Given the description of an element on the screen output the (x, y) to click on. 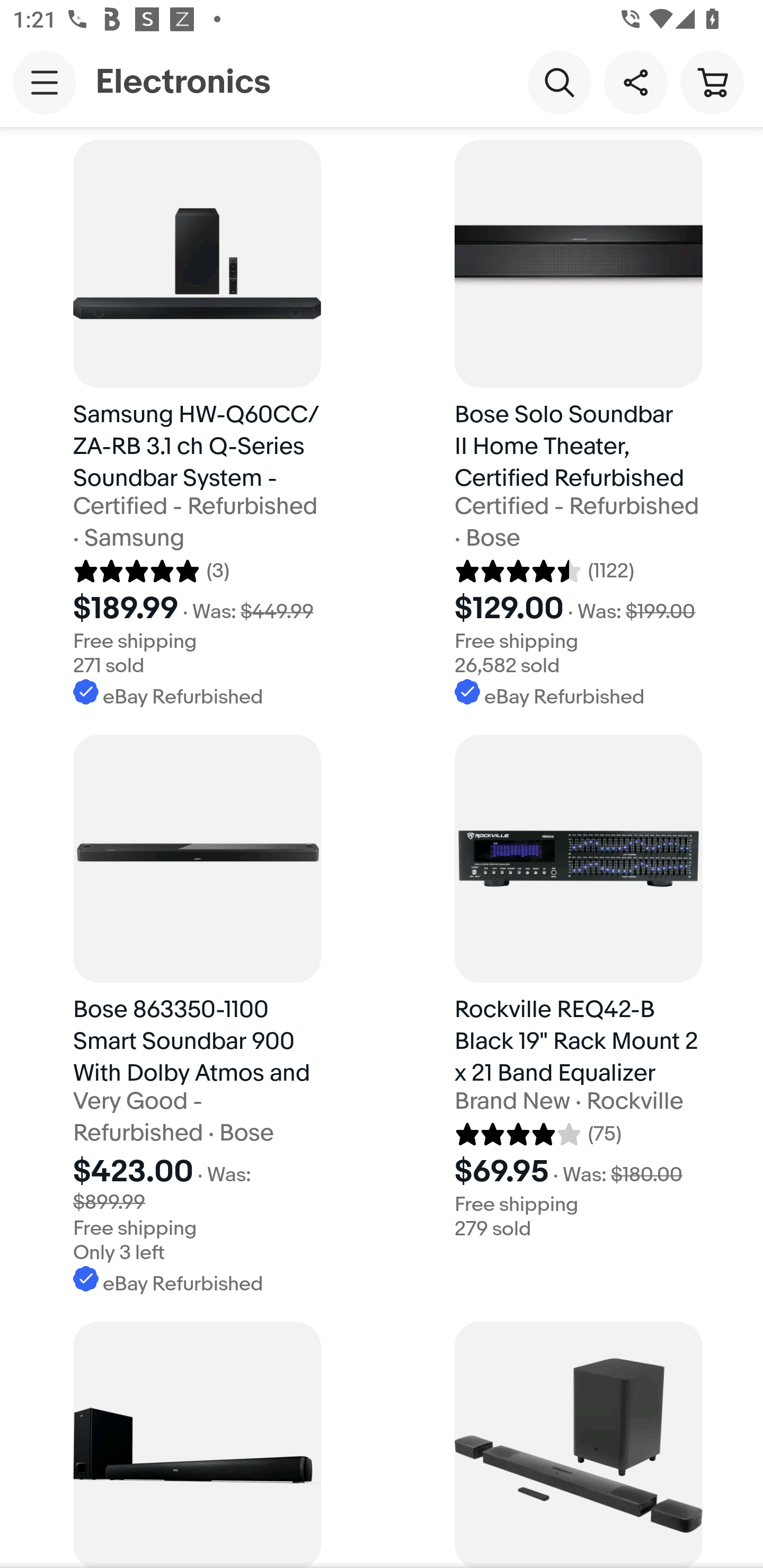
Main navigation, open (44, 82)
Search (559, 81)
Share this page (635, 81)
Cart button shopping cart (711, 81)
